Given the description of an element on the screen output the (x, y) to click on. 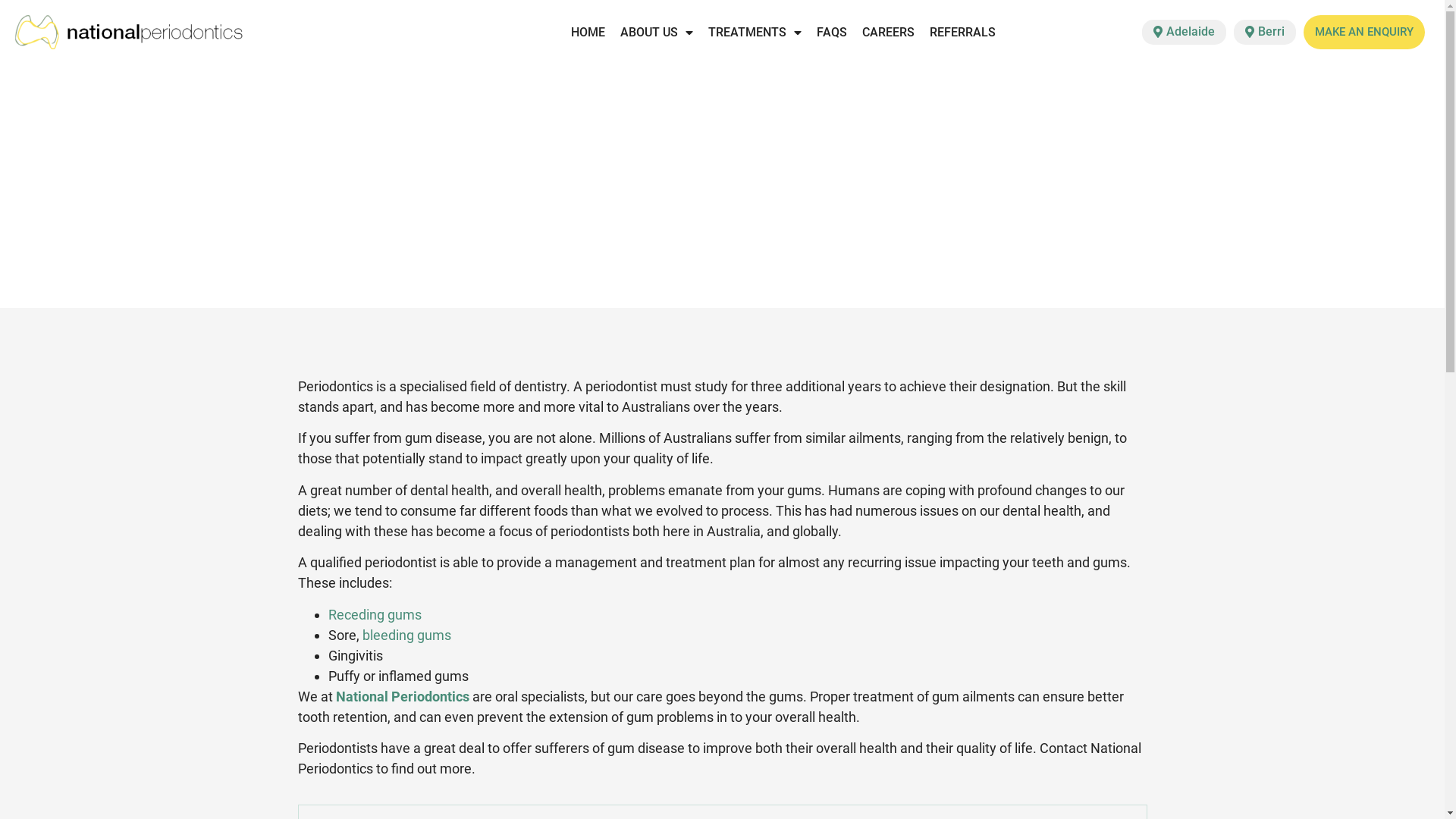
bleeding gums Element type: text (406, 635)
REFERRALS Element type: text (962, 32)
MAKE AN ENQUIRY Element type: text (1363, 32)
ABOUT US Element type: text (656, 32)
Receding gums Element type: text (373, 614)
Adelaide Element type: text (1184, 31)
FAQS Element type: text (831, 32)
Berri Element type: text (1264, 31)
CAREERS Element type: text (888, 32)
HOME Element type: text (588, 32)
TREATMENTS Element type: text (754, 32)
